Given the description of an element on the screen output the (x, y) to click on. 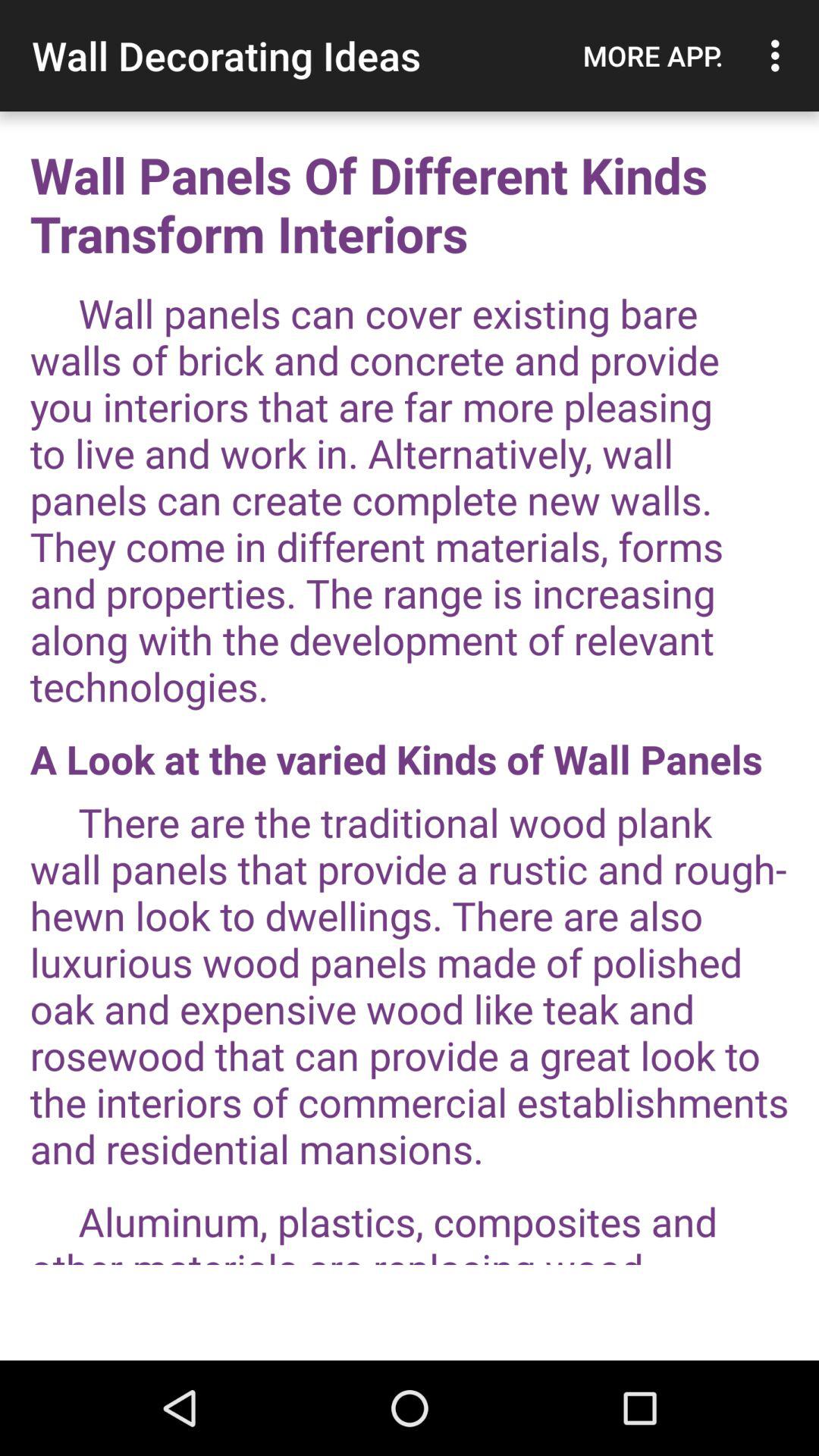
flip until more app. item (653, 55)
